Given the description of an element on the screen output the (x, y) to click on. 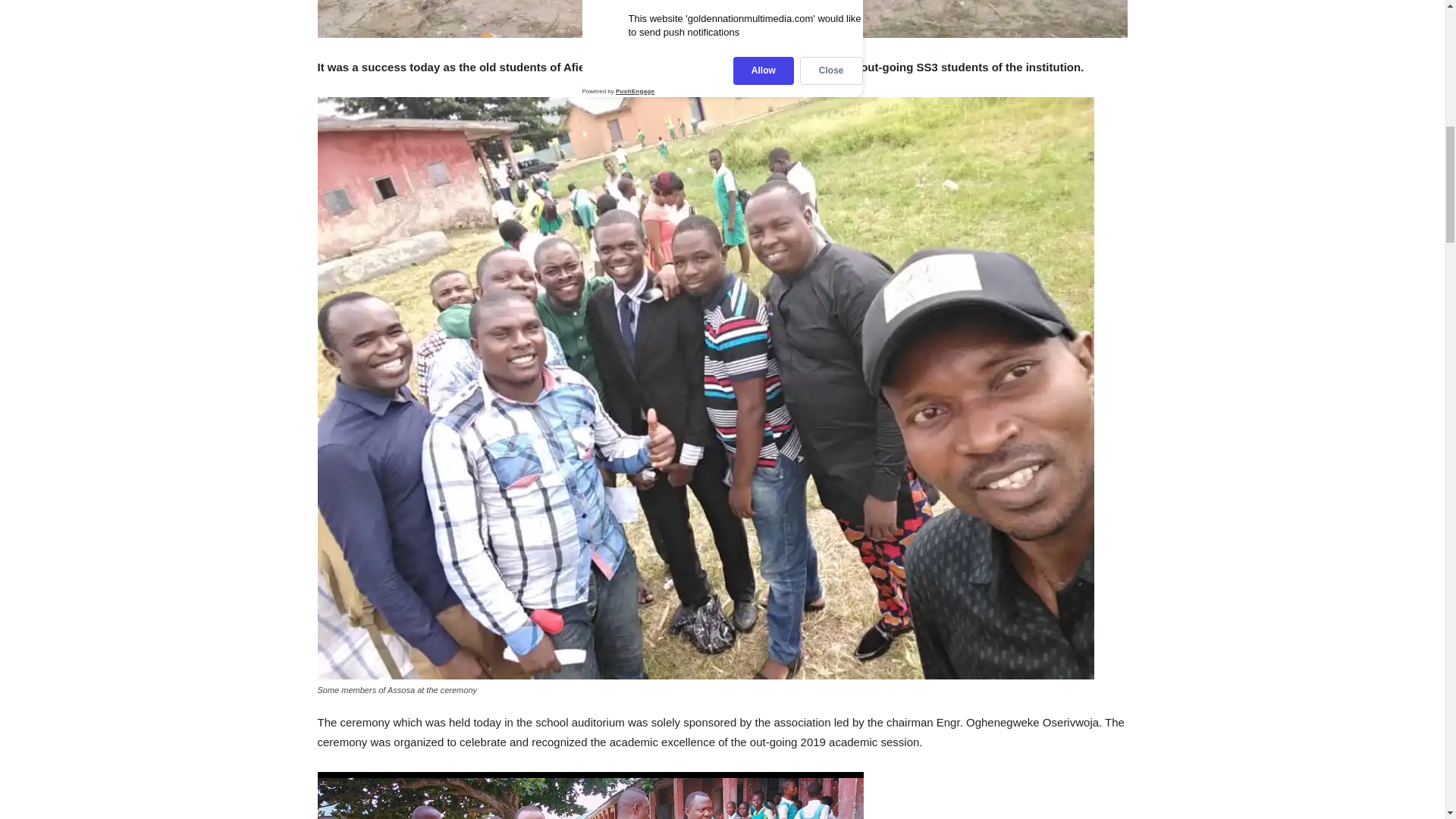
ASSOSA CELEBRATE OUT-STANDING STUDENTS (721, 18)
